Given the description of an element on the screen output the (x, y) to click on. 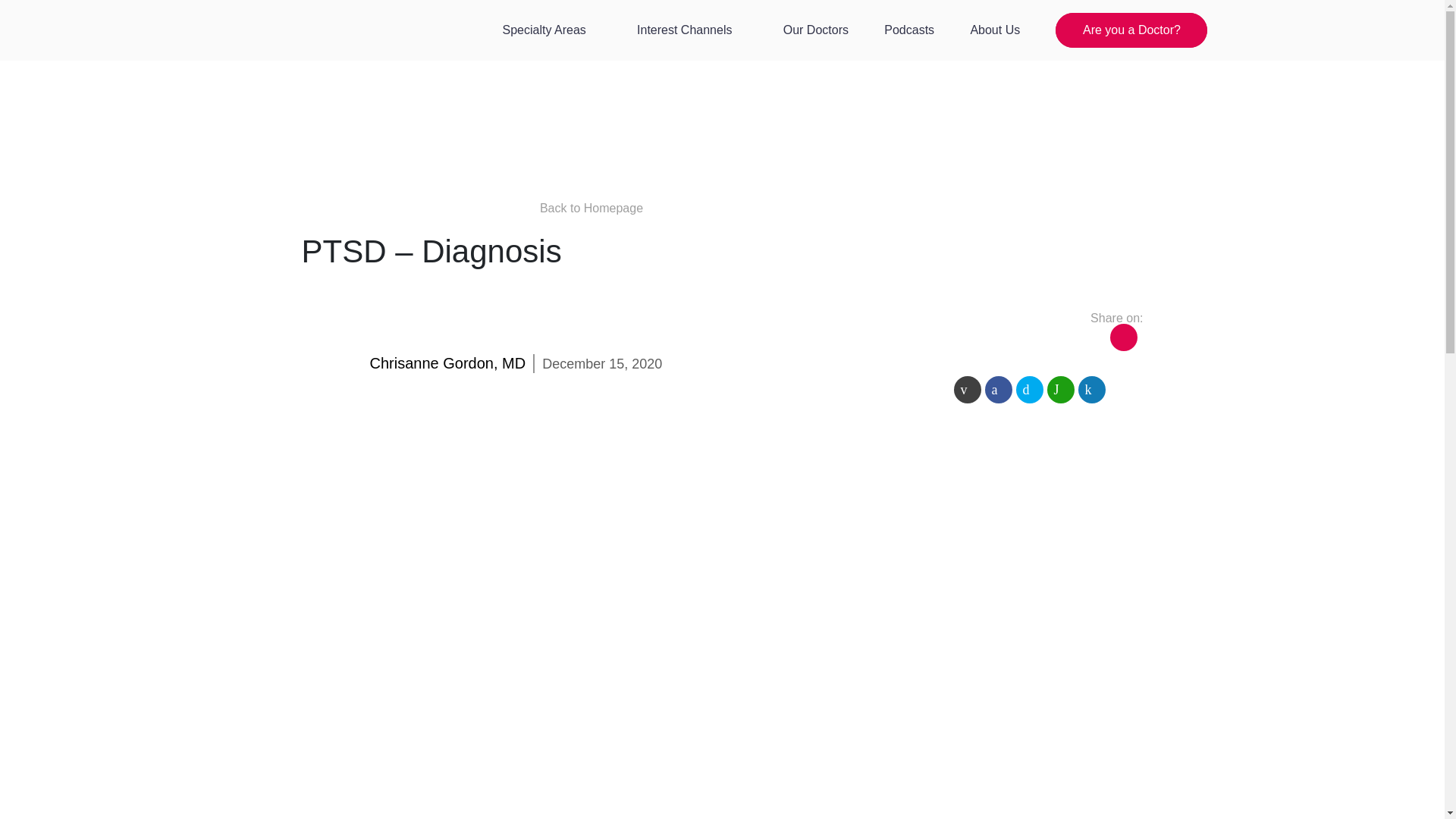
Our Doctors (815, 29)
Interest Channels (691, 29)
Share on Twitter (1029, 389)
Podcasts (908, 29)
Are you a Doctor? (1131, 30)
Copy Link (1123, 337)
Share on Email (967, 389)
About Us (994, 29)
Share on WhatsApp (1060, 389)
Share on LinkedIn (1091, 389)
